Given the description of an element on the screen output the (x, y) to click on. 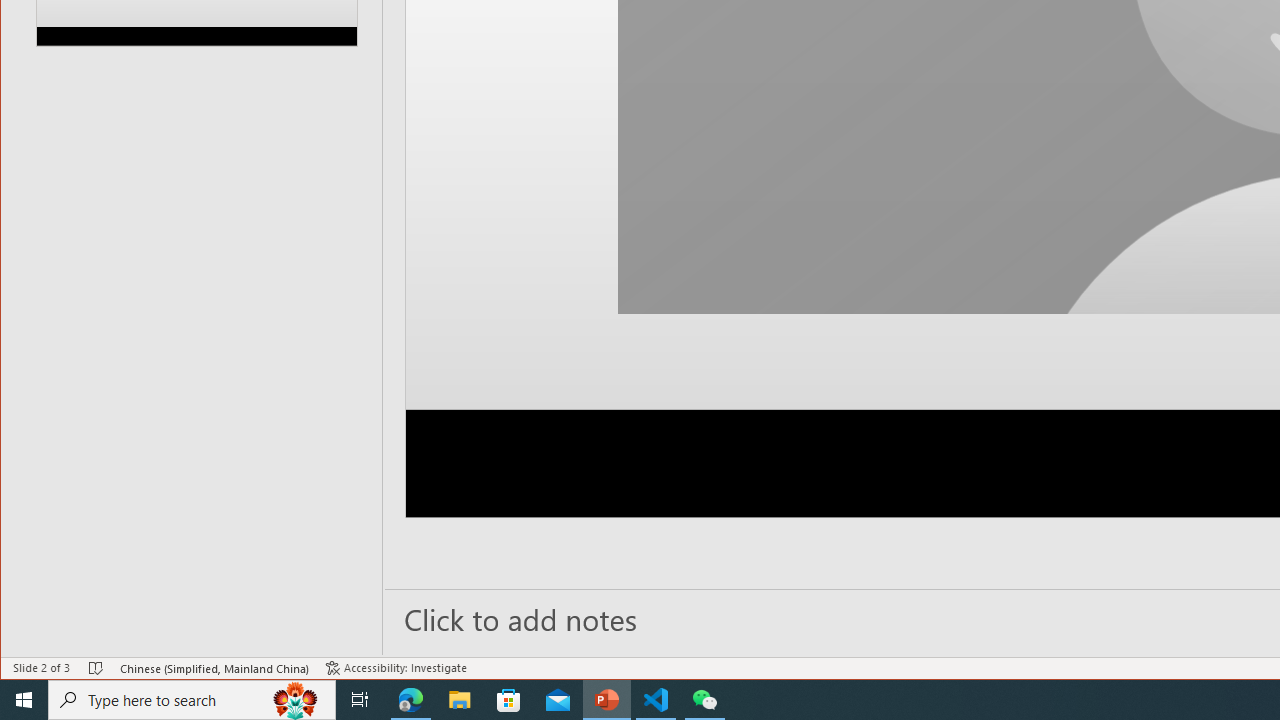
Task View (359, 699)
WeChat - 1 running window (704, 699)
Microsoft Store (509, 699)
File Explorer (460, 699)
PowerPoint - 1 running window (607, 699)
Search highlights icon opens search home window (295, 699)
Start (24, 699)
Type here to search (191, 699)
Microsoft Edge - 1 running window (411, 699)
Visual Studio Code - 1 running window (656, 699)
